Given the description of an element on the screen output the (x, y) to click on. 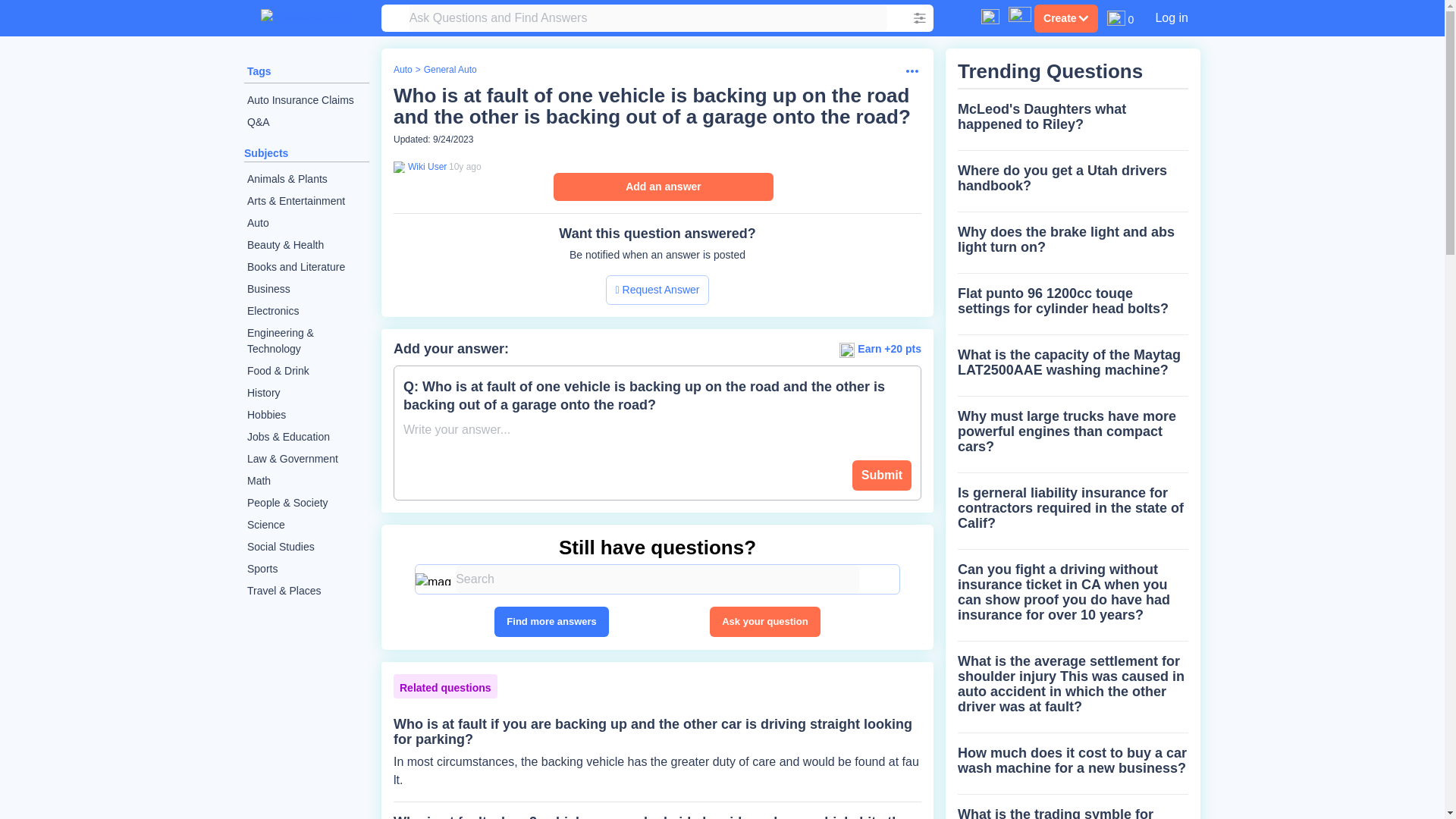
History (306, 393)
Add an answer (663, 186)
Social Studies (306, 546)
Log in (1170, 17)
Electronics (306, 311)
2014-03-03 17:59:54 (464, 166)
Business (306, 289)
Science (306, 525)
Books and Literature (306, 267)
